Given the description of an element on the screen output the (x, y) to click on. 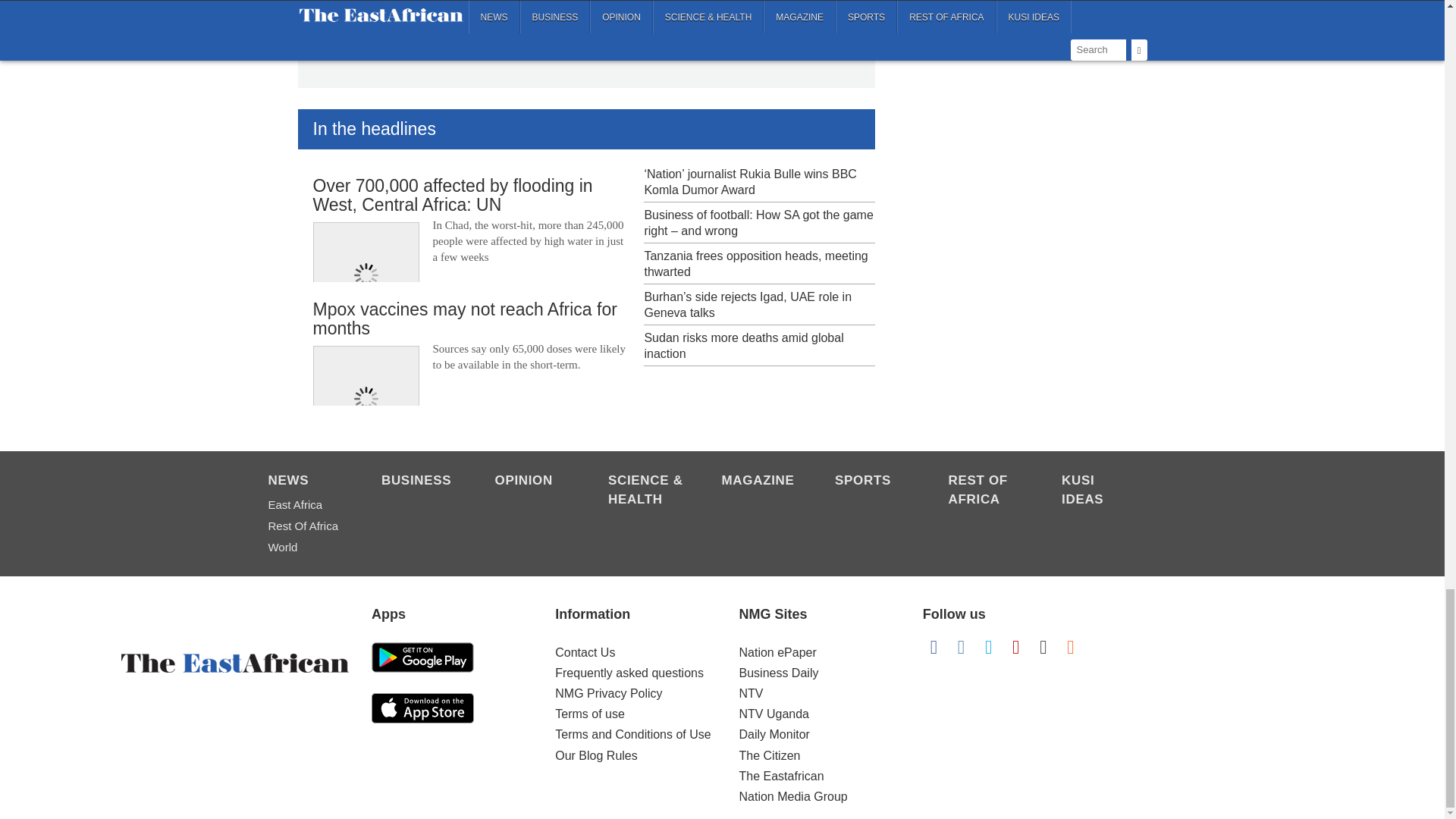
Magazine (760, 481)
Business (419, 481)
Frequently asked questions (628, 672)
East Africa (306, 504)
Rest of Africa (306, 526)
News (306, 481)
Sports (873, 481)
Opinion (533, 481)
Rest of Africa (987, 491)
NMG Privacy Policy (608, 693)
